Given the description of an element on the screen output the (x, y) to click on. 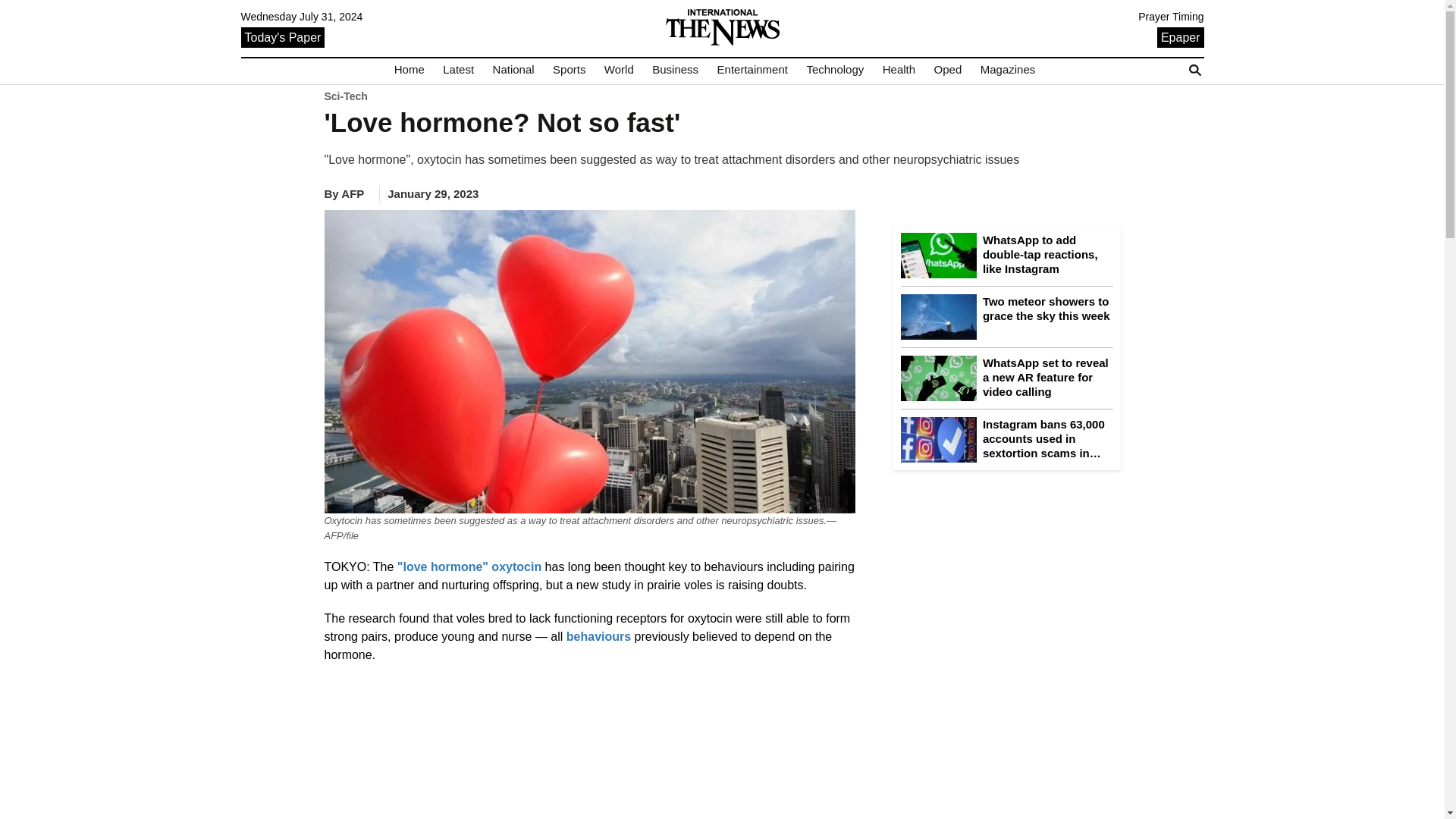
Entertainment (752, 69)
Home (409, 69)
Latest (458, 69)
Sports (568, 69)
Health (899, 69)
National (512, 69)
Today's Paper (282, 37)
World (619, 69)
Prayer Timing (1171, 16)
Epaper (1180, 37)
